Given the description of an element on the screen output the (x, y) to click on. 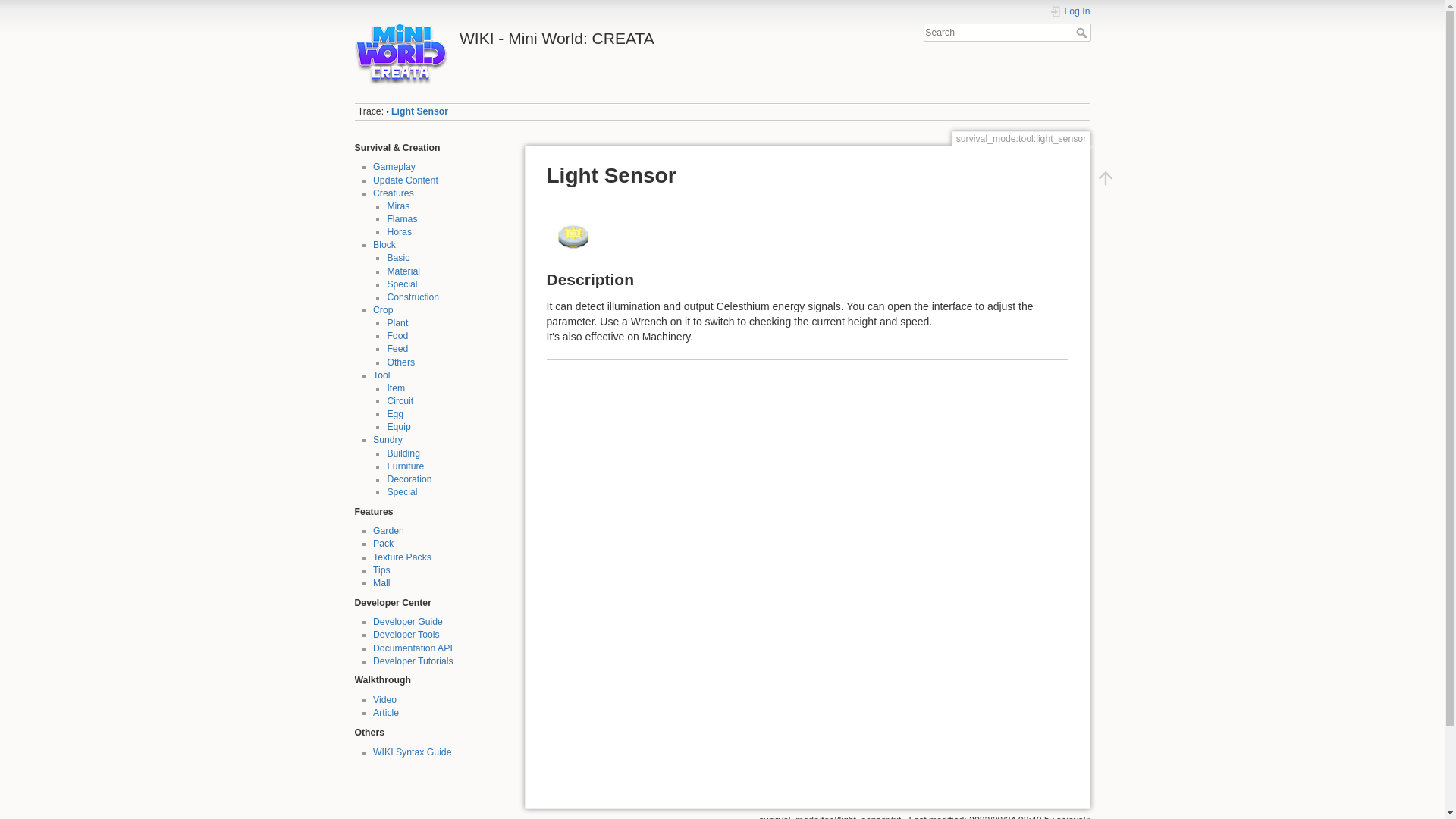
Food (397, 335)
Basic (398, 257)
Feed (397, 348)
Light Sensor (419, 111)
Plant (397, 322)
Equip (398, 426)
Update Content (405, 180)
Flamas (401, 218)
Search (1082, 32)
Crop (382, 309)
